Given the description of an element on the screen output the (x, y) to click on. 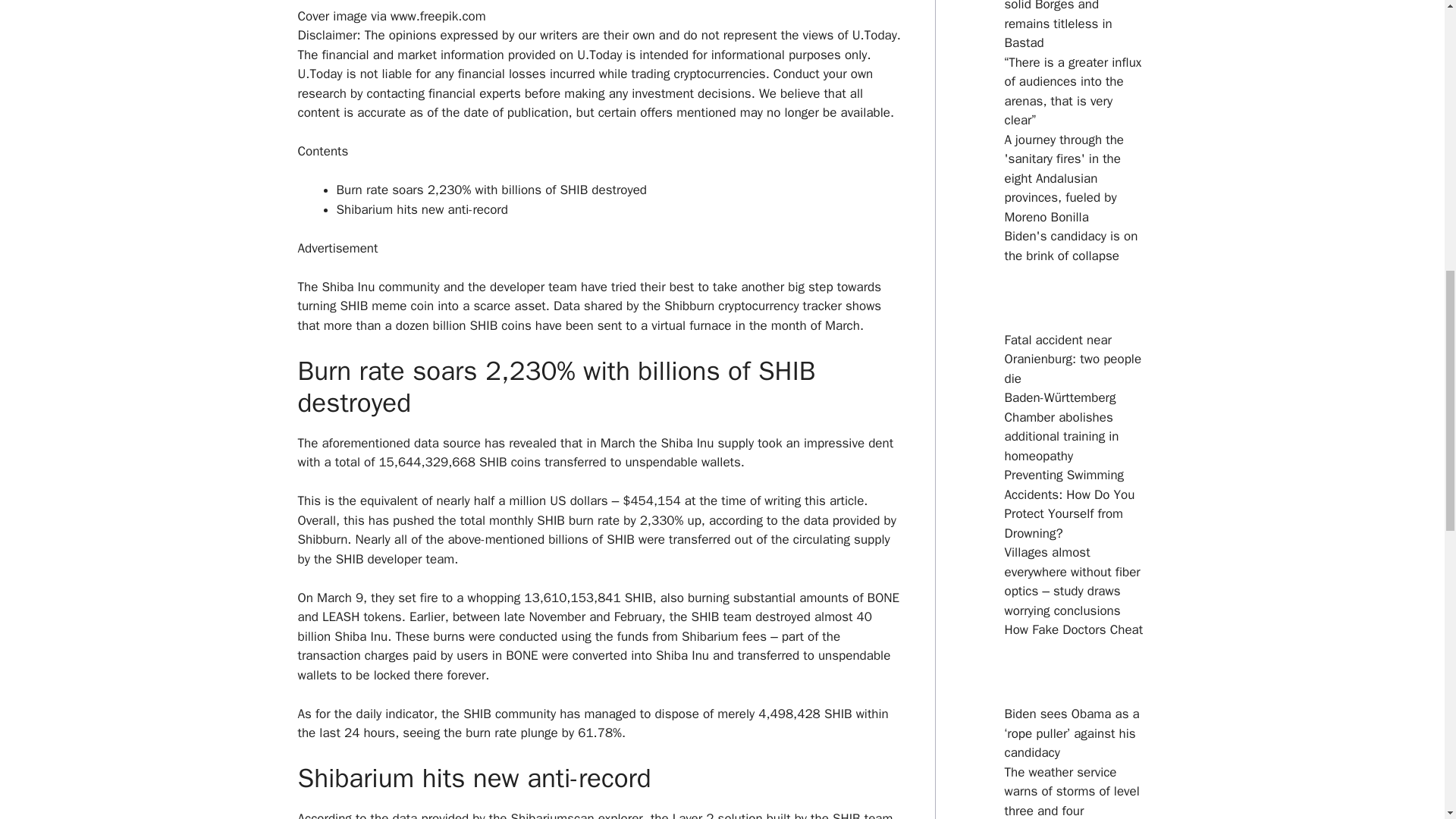
Fatal accident near Oranienburg: two people die (1072, 359)
Biden's candidacy is on the brink of collapse (1070, 245)
How Fake Doctors Cheat (1073, 629)
